Given the description of an element on the screen output the (x, y) to click on. 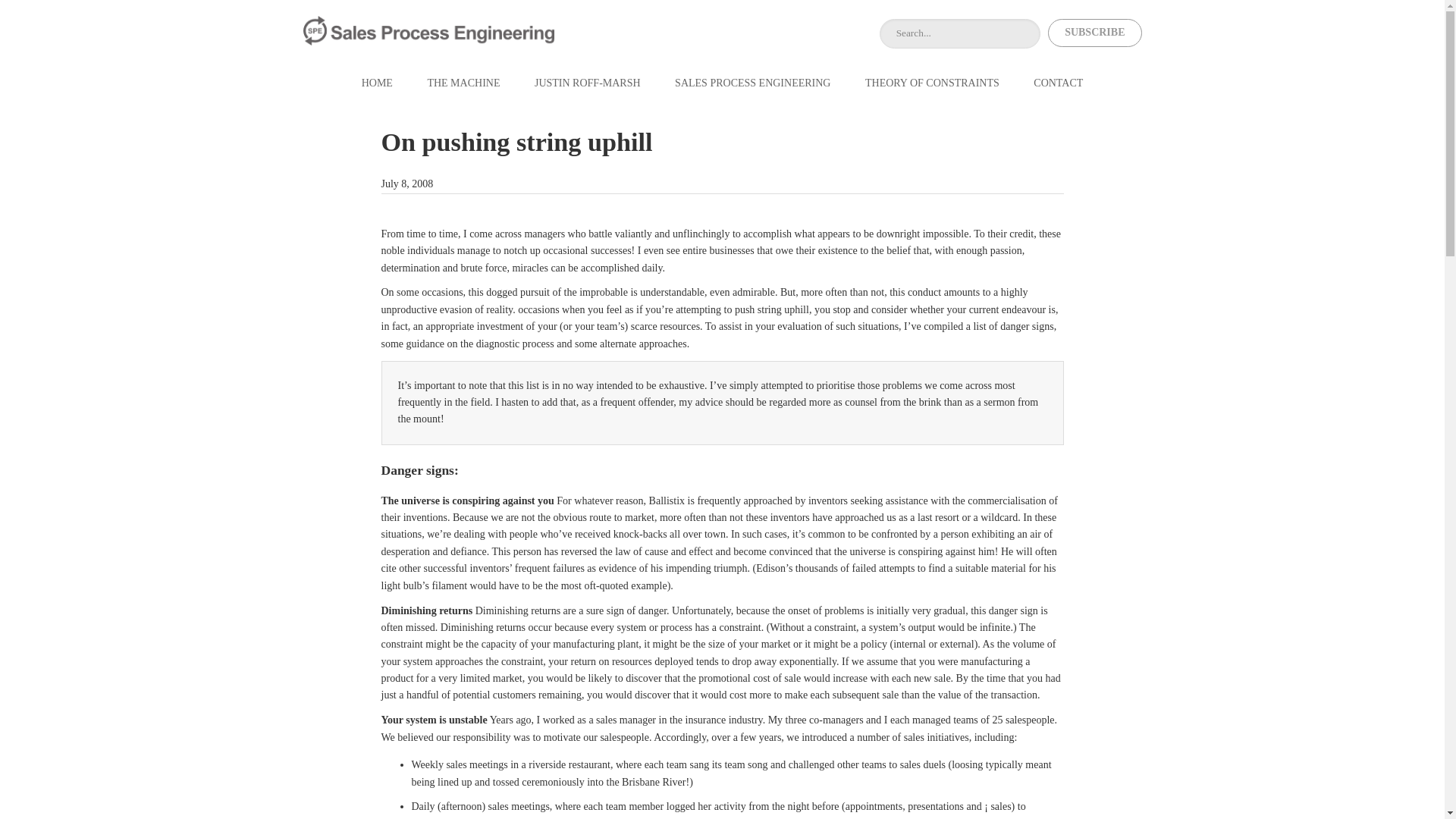
CONTACT (1058, 83)
THE MACHINE (462, 83)
SUBSCRIBE (1094, 32)
Contact Justin (1058, 83)
SALES PROCESS ENGINEERING (752, 83)
HOME (377, 83)
THEORY OF CONSTRAINTS (931, 83)
JUSTIN ROFF-MARSH (587, 83)
